Given the description of an element on the screen output the (x, y) to click on. 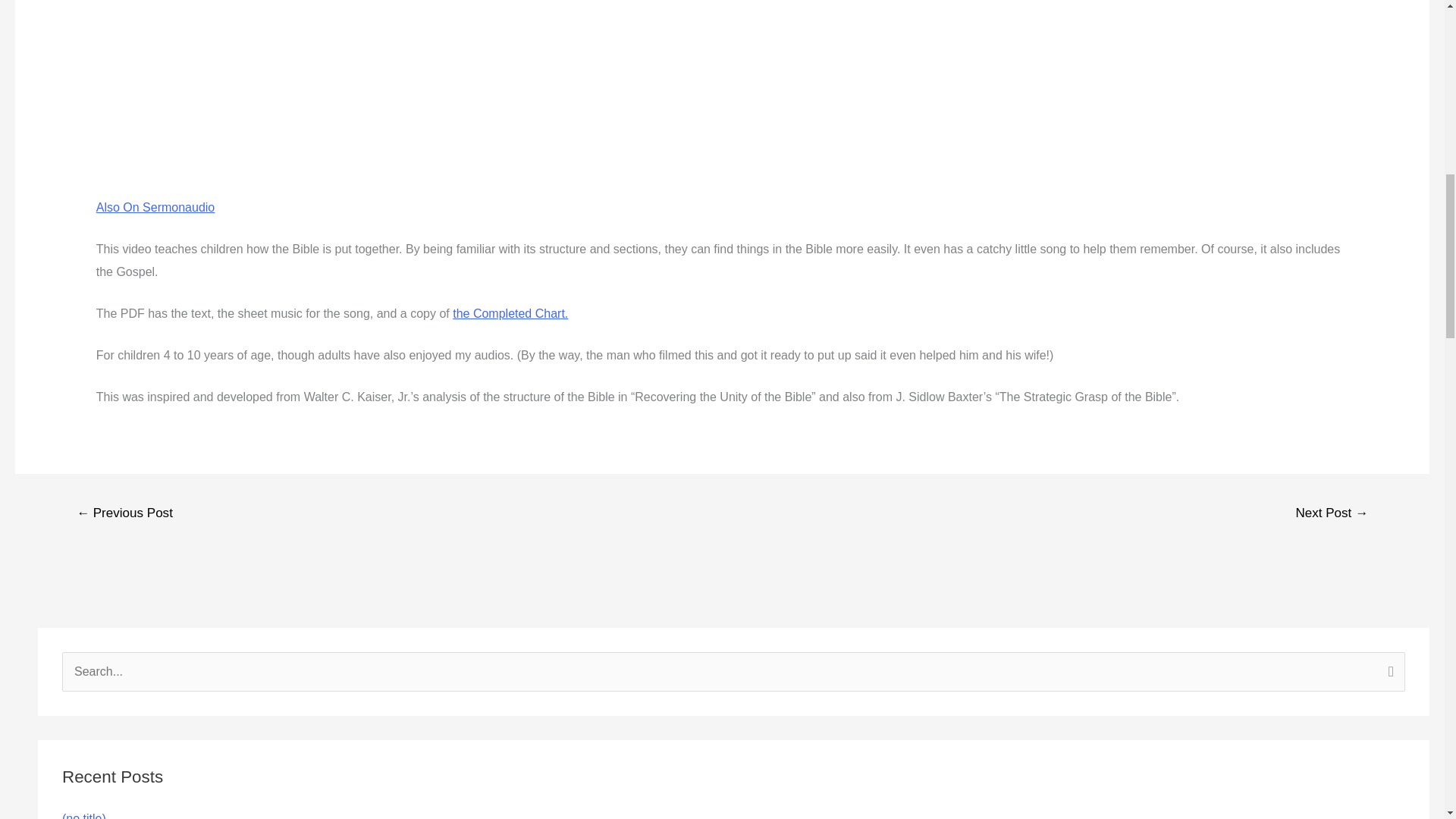
Also On Sermonaudio (155, 206)
the Completed Chart. (509, 313)
